Given the description of an element on the screen output the (x, y) to click on. 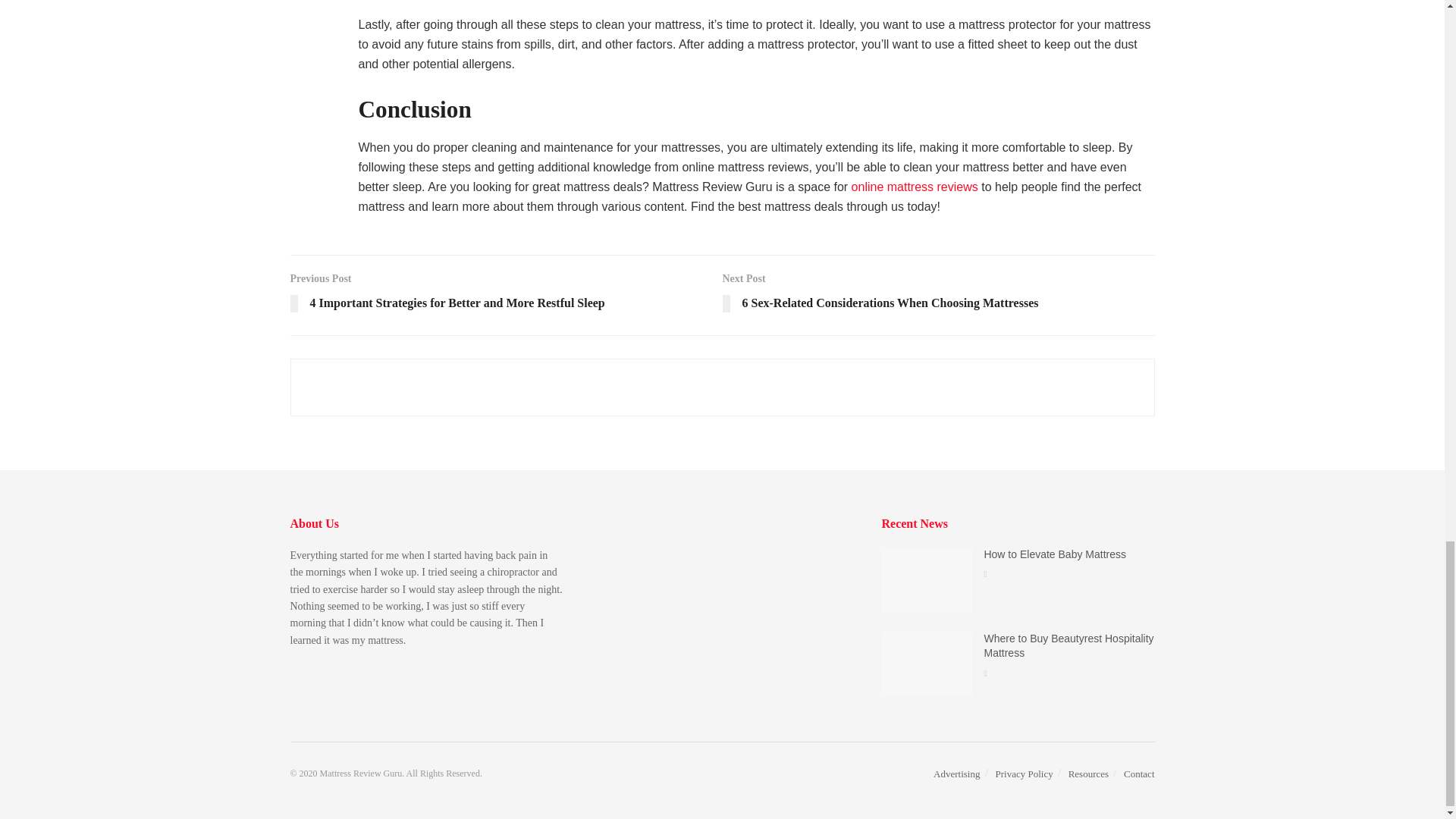
Where to Buy Beautyrest Hospitality Mattress (1068, 646)
How to Elevate Baby Mattress (1054, 553)
Advertising (956, 773)
online mattress reviews (914, 186)
